Given the description of an element on the screen output the (x, y) to click on. 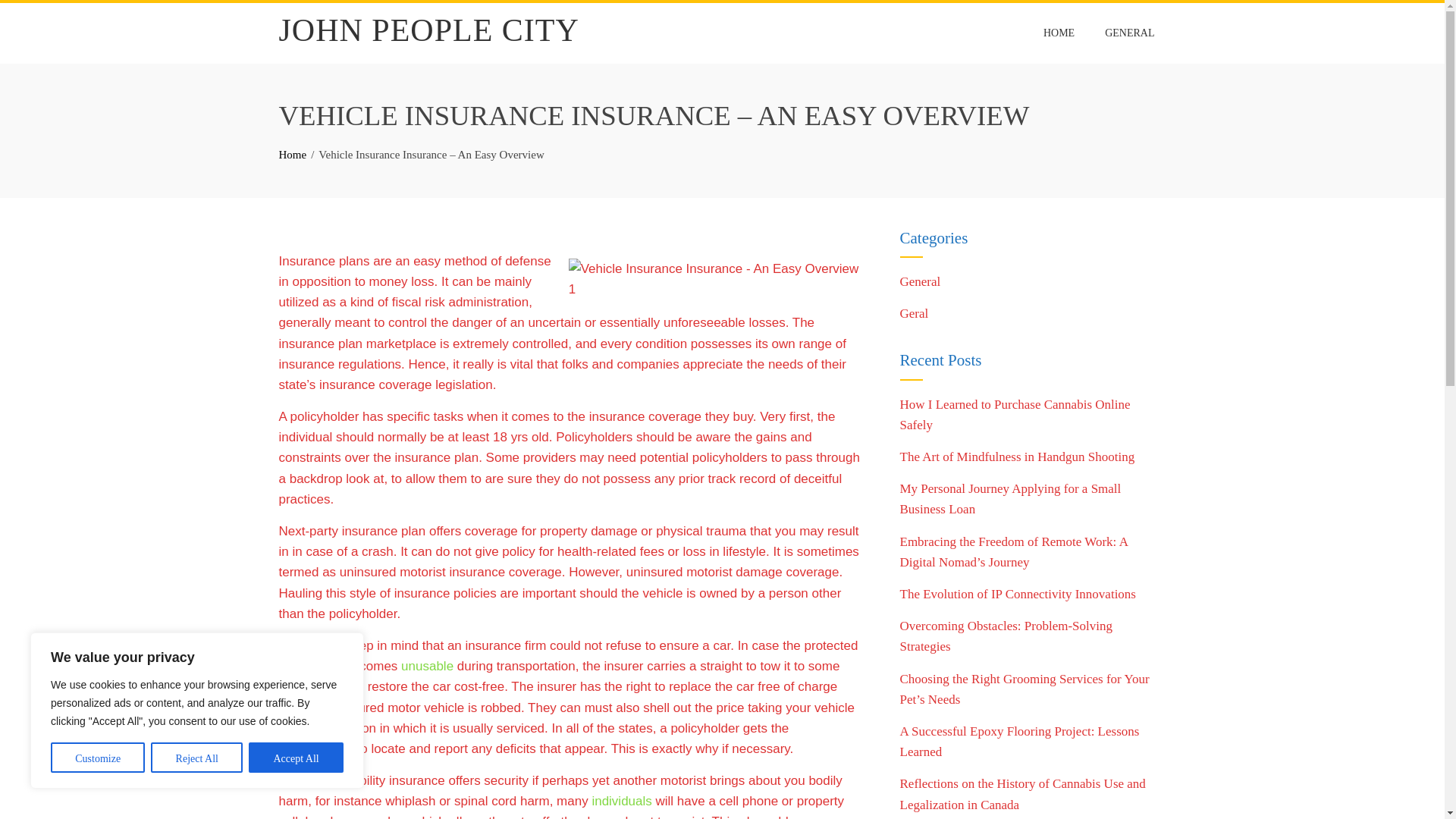
A Successful Epoxy Flooring Project: Lessons Learned (1018, 741)
individuals (620, 800)
Customize (97, 757)
HOME (1059, 32)
Reject All (197, 757)
Overcoming Obstacles: Problem-Solving Strategies (1005, 636)
The Evolution of IP Connectivity Innovations (1017, 594)
General (919, 281)
Accept All (295, 757)
JOHN PEOPLE CITY (429, 30)
